Given the description of an element on the screen output the (x, y) to click on. 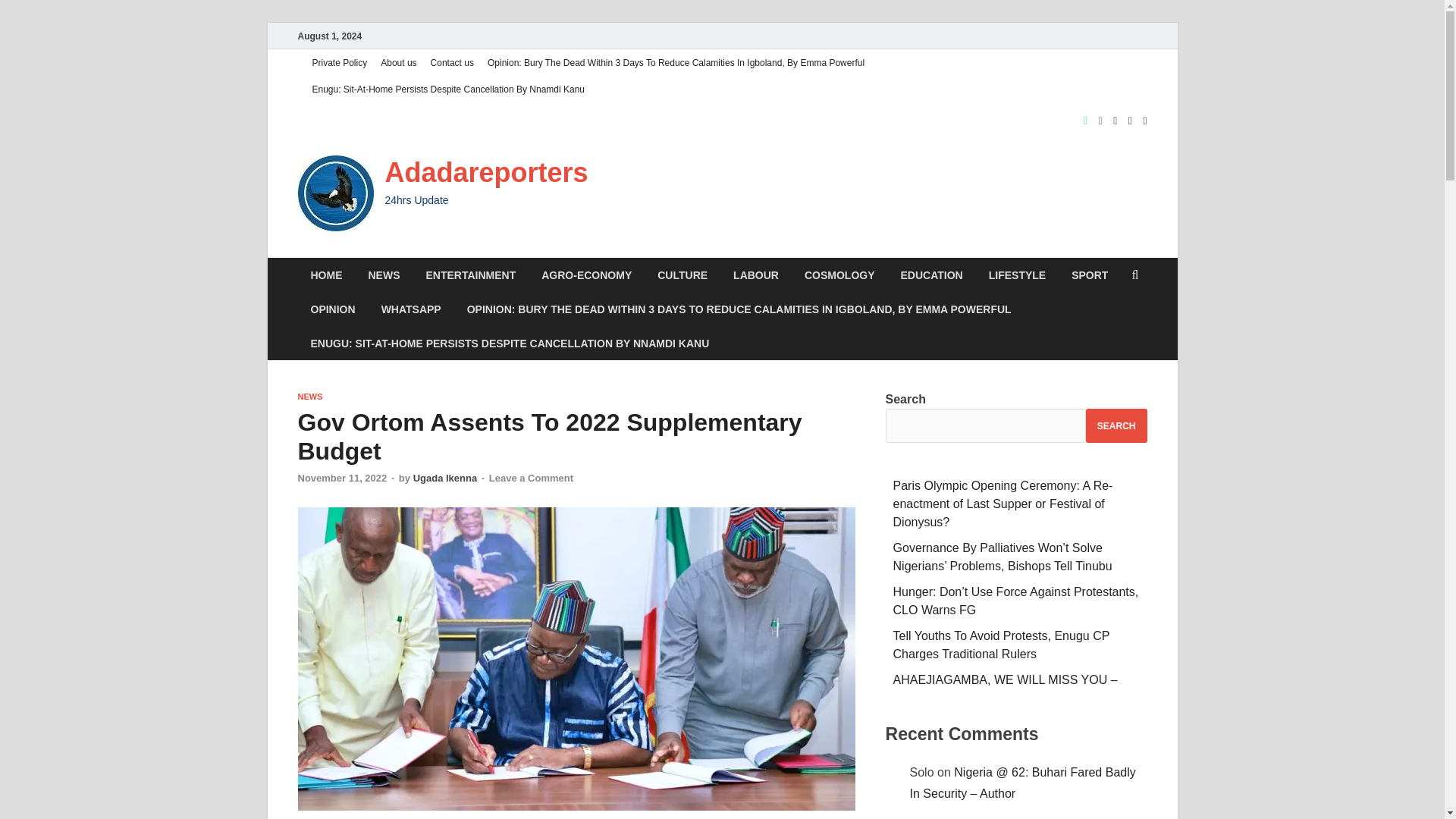
COSMOLOGY (840, 274)
LIFESTYLE (1016, 274)
NEWS (383, 274)
SPORT (1089, 274)
Leave a Comment (531, 478)
EDUCATION (931, 274)
CULTURE (682, 274)
NEWS (309, 396)
Ugada Ikenna (445, 478)
Private Policy (339, 62)
WhatsApp (411, 308)
ENTERTAINMENT (470, 274)
